Given the description of an element on the screen output the (x, y) to click on. 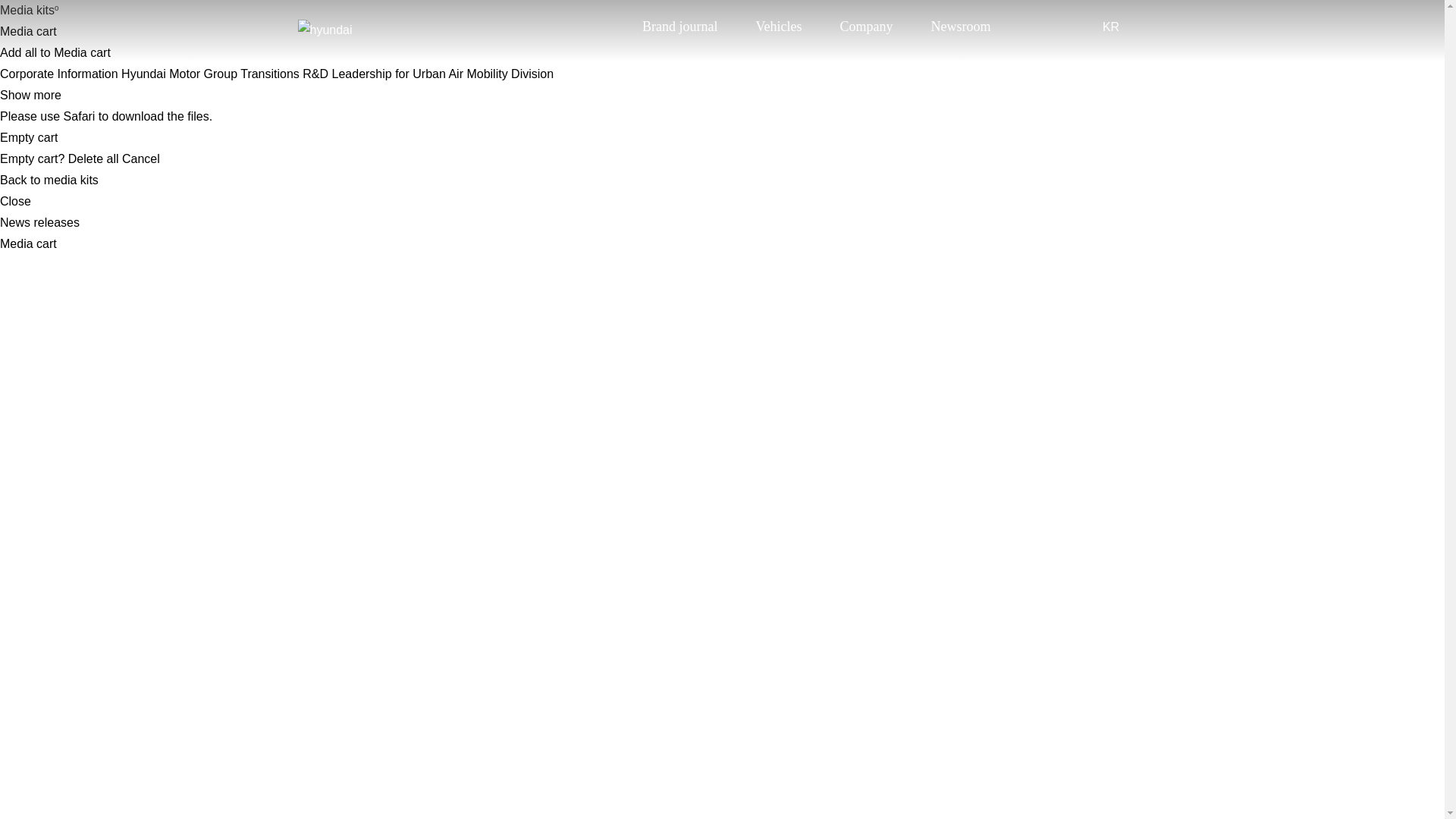
Company (866, 25)
Vehicles (778, 25)
Brand journal (679, 25)
Go to Korean Website (1109, 26)
